Given the description of an element on the screen output the (x, y) to click on. 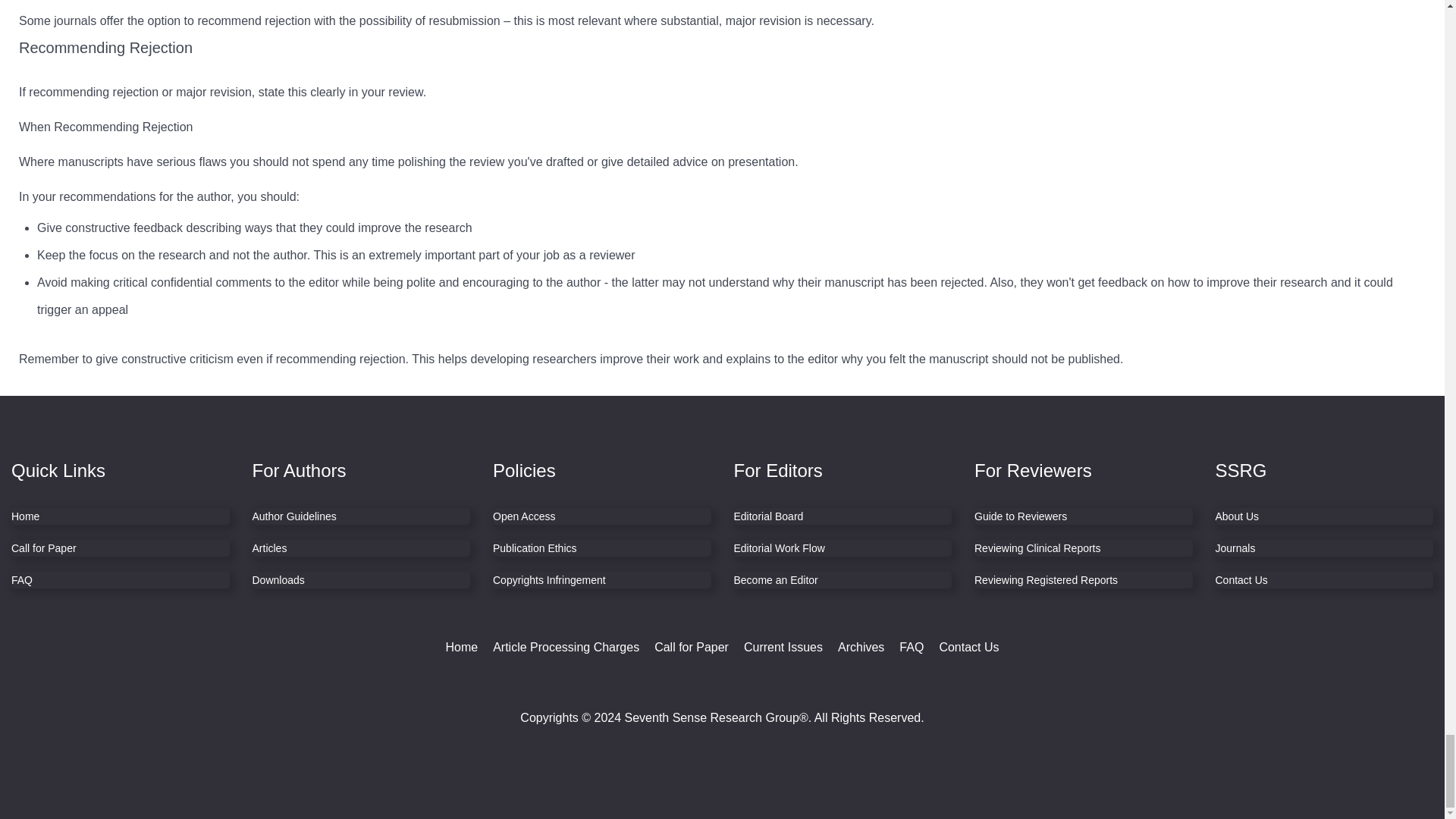
FAQ (120, 579)
Journals (1323, 547)
Reviewing Clinical Reports (1083, 547)
Contact Us (1323, 579)
Editorial Board (842, 515)
Current Issues (783, 646)
Open Access (602, 515)
Article Processing Charges (566, 646)
Become an Editor (842, 579)
Editorial Work Flow (842, 547)
Reviewing Registered Reports (1083, 579)
Call for Paper (691, 646)
Articles (360, 547)
Guide to Reviewers (1083, 515)
Copyrights Infringement (602, 579)
